Given the description of an element on the screen output the (x, y) to click on. 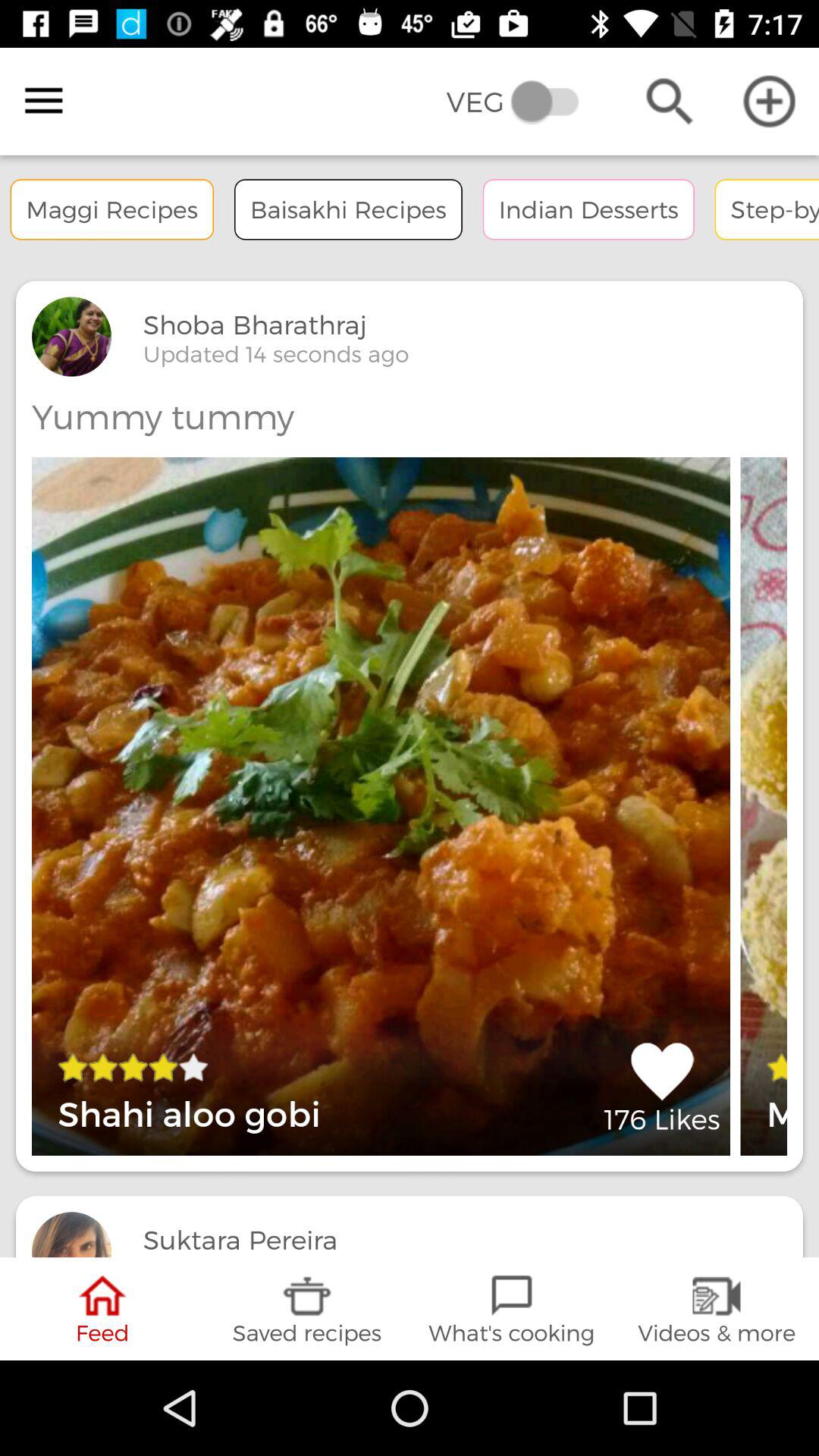
turn off icon above step by step icon (769, 101)
